Given the description of an element on the screen output the (x, y) to click on. 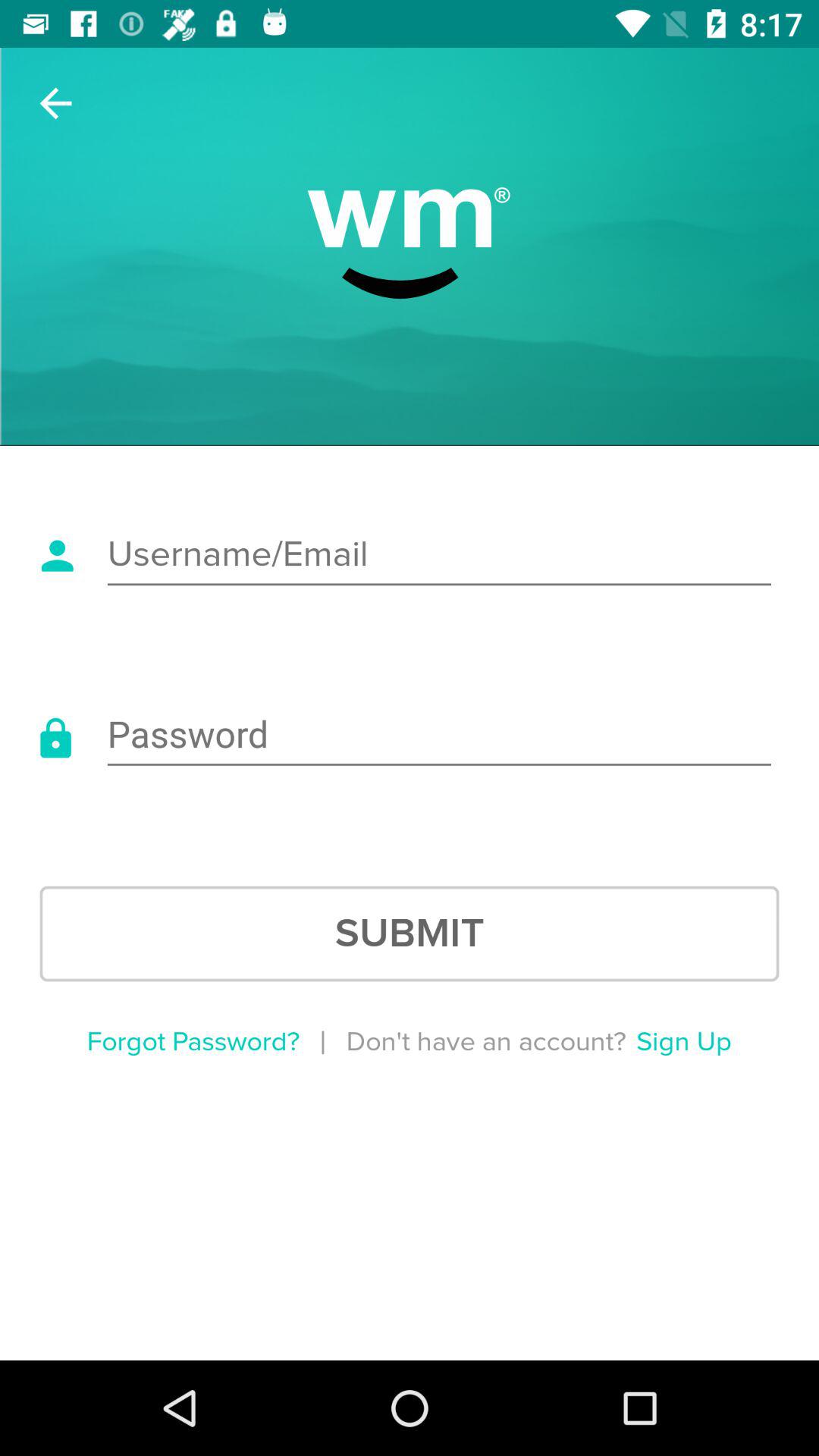
jump until the sign up (683, 1042)
